Given the description of an element on the screen output the (x, y) to click on. 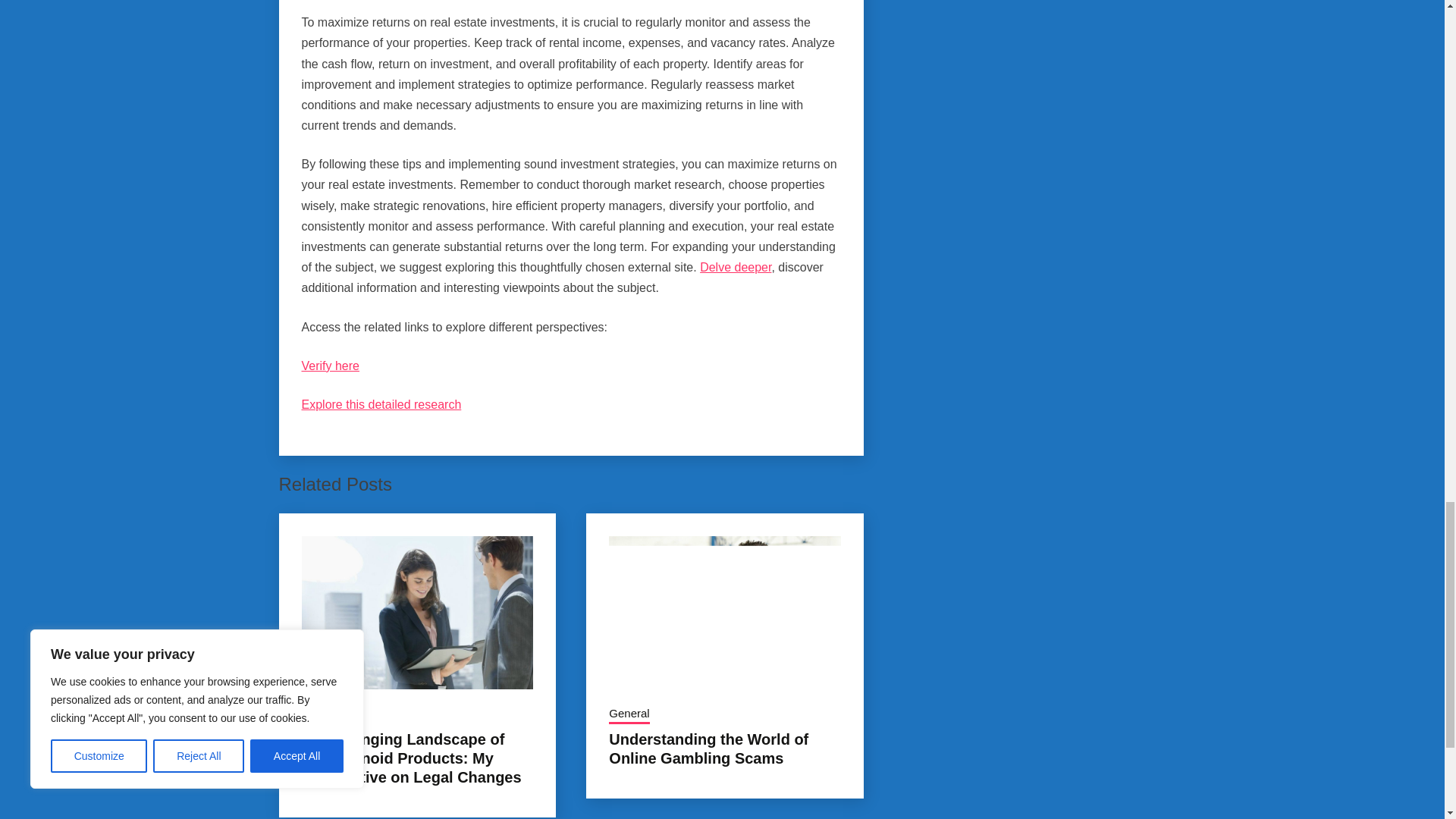
Explore this detailed research (381, 404)
Verify here (330, 365)
General (321, 714)
Delve deeper (735, 267)
